Given the description of an element on the screen output the (x, y) to click on. 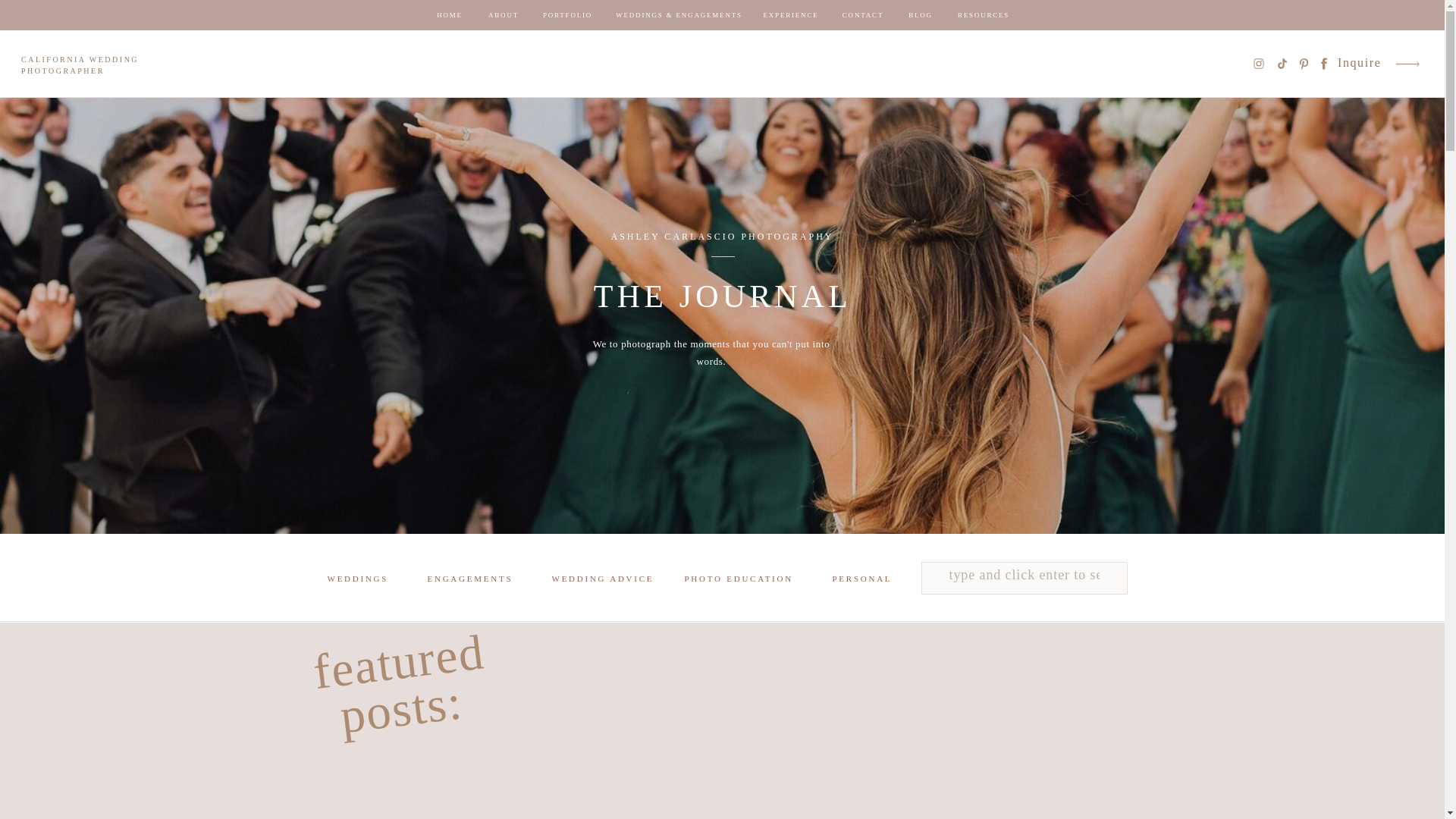
arrow (1407, 63)
BLOG (920, 15)
ENGAGEMENTS (473, 580)
HOME (448, 15)
CALIFORNIA WEDDING PHOTOGRAPHER (91, 67)
PHOTO EDUCATION (740, 580)
PORTFOLIO (567, 15)
WEDDING ADVICE (605, 580)
EXPERIENCE (790, 15)
Inquire  (1360, 64)
